Given the description of an element on the screen output the (x, y) to click on. 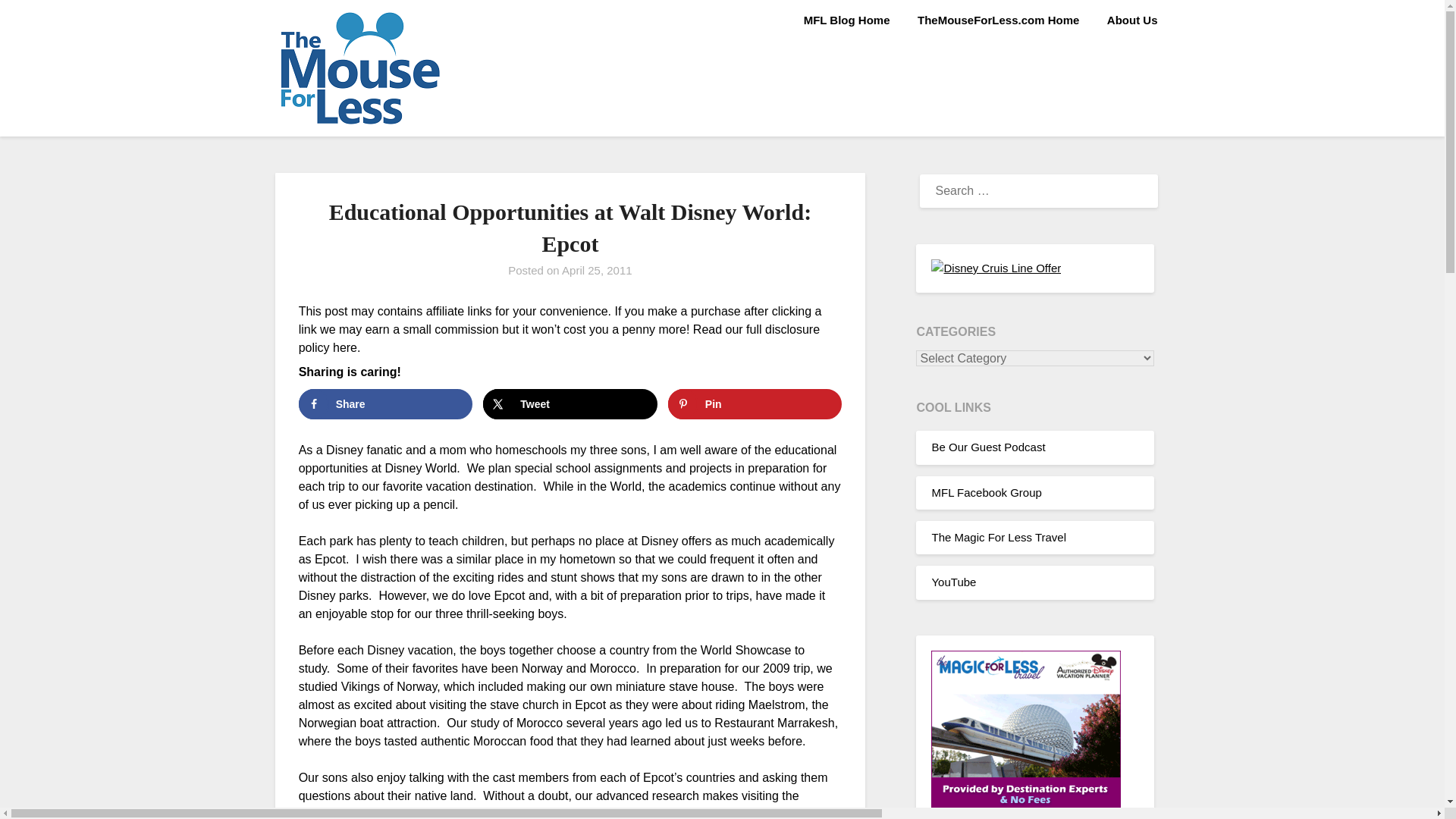
MFL Blog Home (847, 20)
TheMouseForLess.com Home (997, 20)
The Mouse For Less Facebook Group (986, 492)
Pin (754, 404)
Search (38, 22)
MFL Facebook Group (986, 492)
Share (384, 404)
Share on X (569, 404)
Share on Facebook (384, 404)
